Given the description of an element on the screen output the (x, y) to click on. 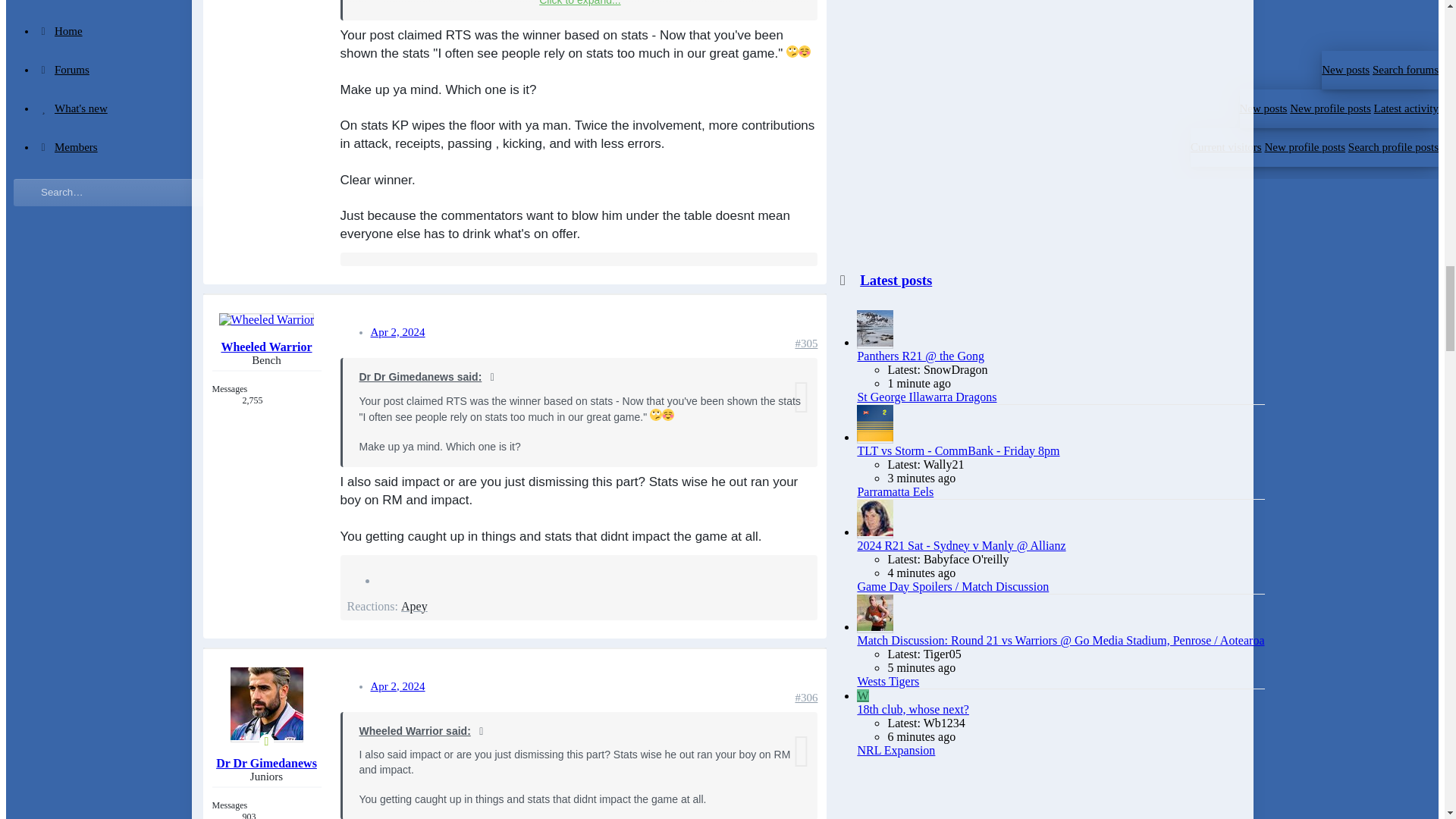
Apr 2, 2024 at 8:47 PM (397, 331)
Roll Eyes    :rolleyes: (791, 51)
Roll Eyes    :rolleyes: (655, 414)
